Given the description of an element on the screen output the (x, y) to click on. 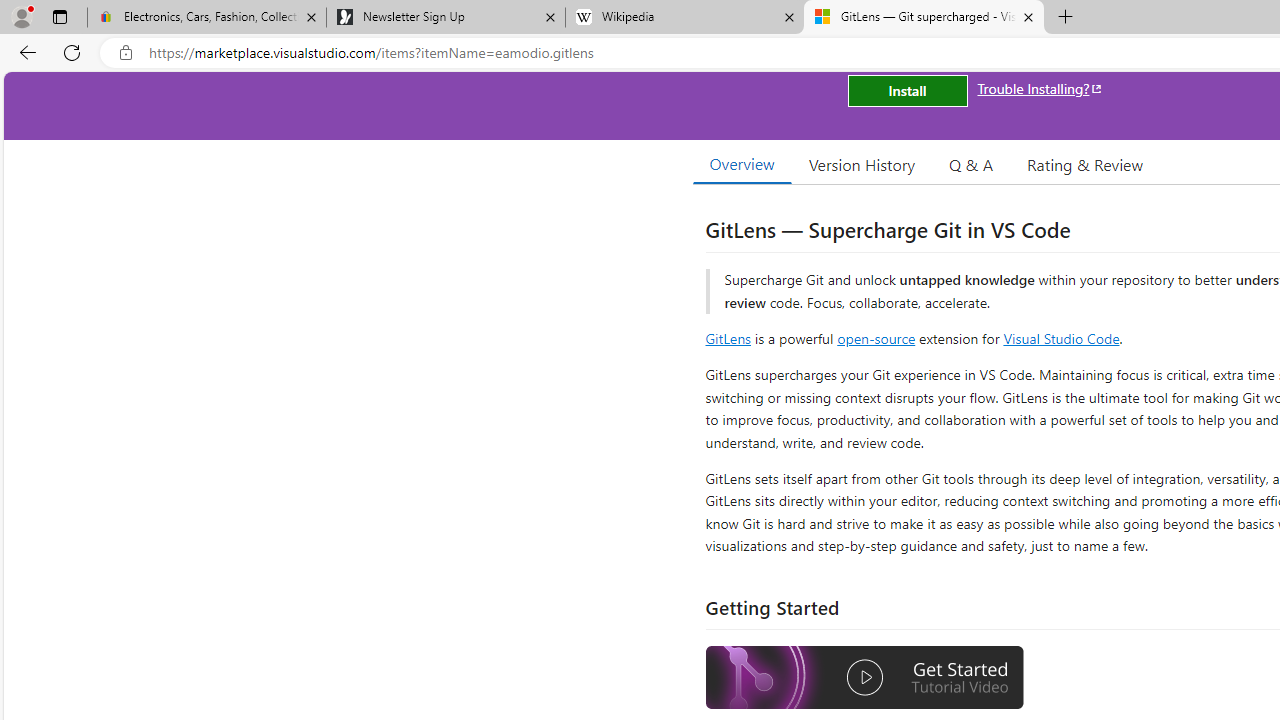
Close tab (1028, 16)
GitLens (728, 337)
Rating & Review (1084, 164)
Newsletter Sign Up (445, 17)
Back (24, 52)
Tab actions menu (59, 16)
